Given the description of an element on the screen output the (x, y) to click on. 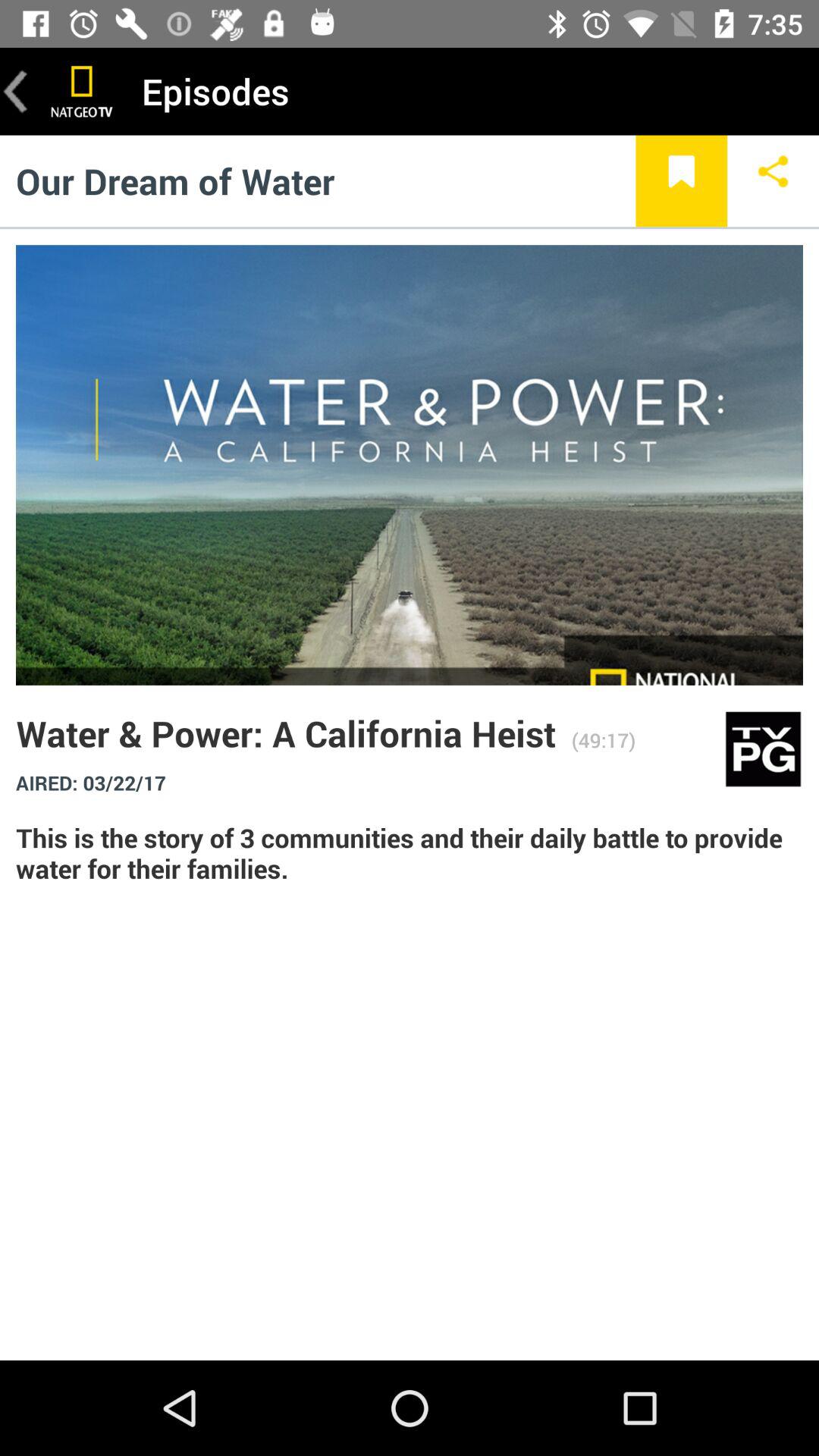
select pin option (681, 180)
